Given the description of an element on the screen output the (x, y) to click on. 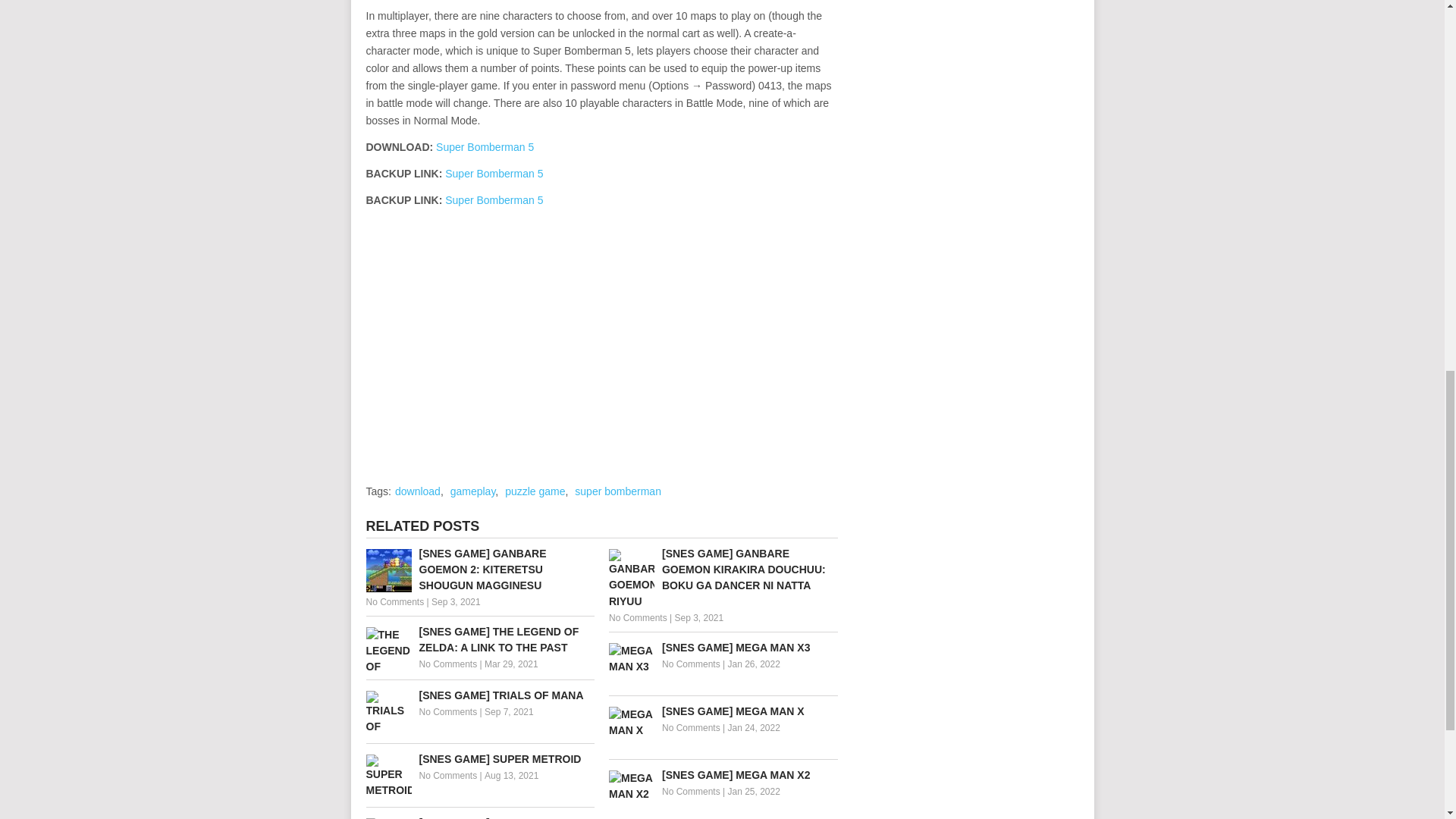
Super Bomberman 5 (494, 200)
No Comments (691, 791)
No Comments (448, 664)
Super Bomberman 5 (494, 173)
super bomberman (618, 491)
Super Bomberman 5 (484, 146)
puzzle game (534, 491)
YouTube video player (577, 337)
No Comments (448, 775)
No Comments (394, 602)
